Given the description of an element on the screen output the (x, y) to click on. 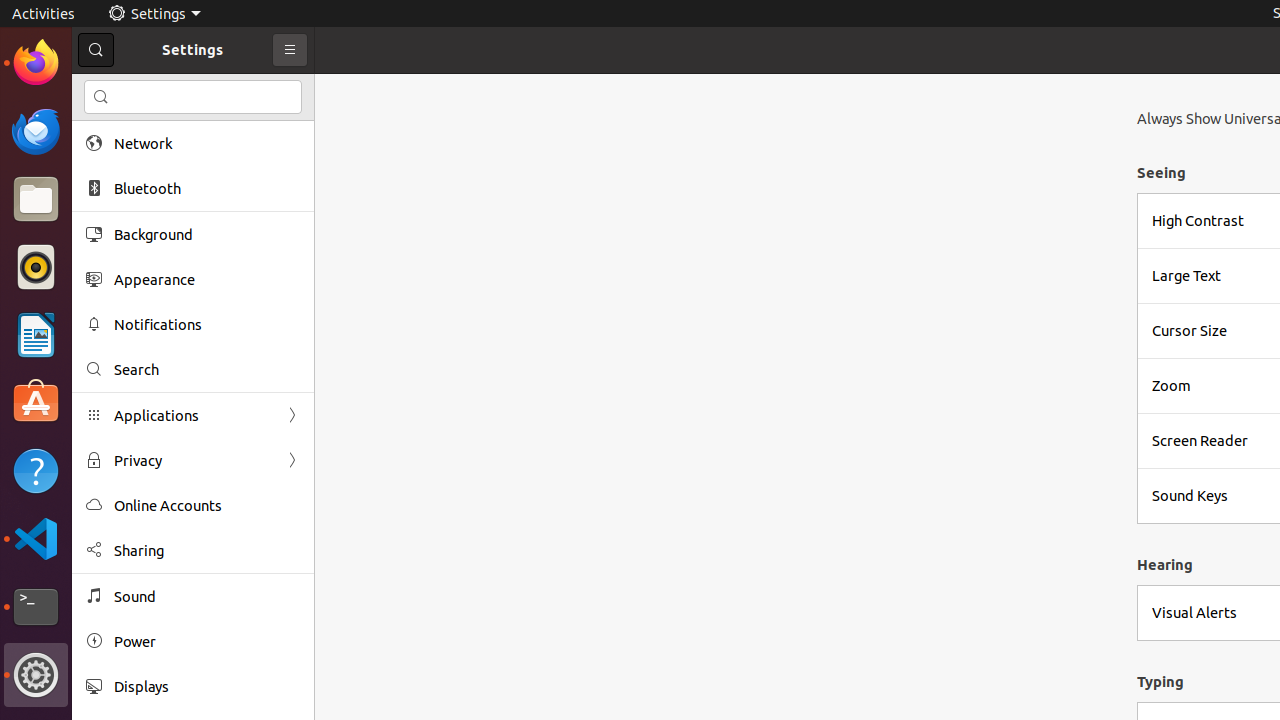
Privacy Element type: label (193, 460)
li.txt Element type: label (259, 89)
Online Accounts Element type: label (207, 505)
